Given the description of an element on the screen output the (x, y) to click on. 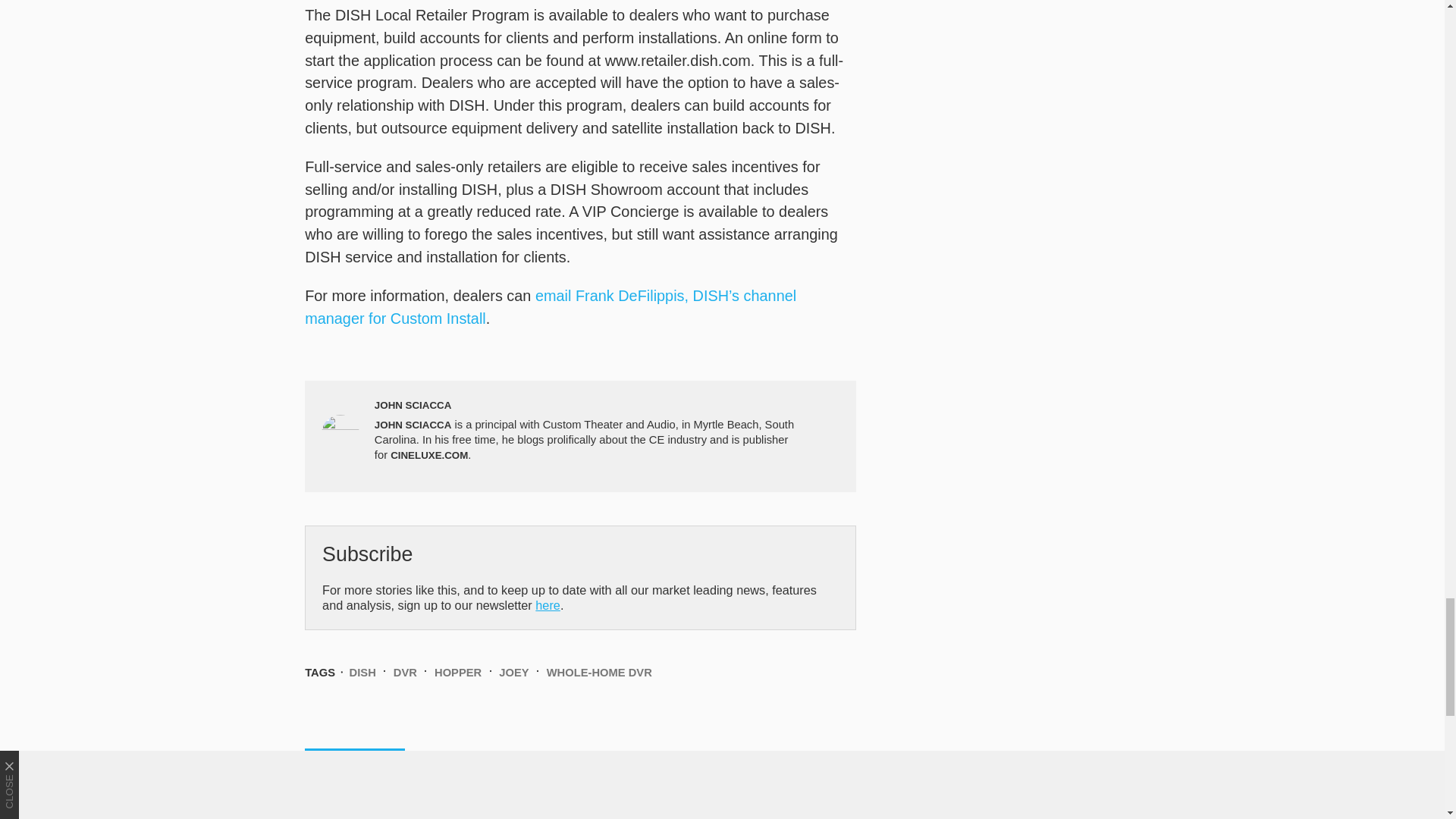
John Sciacca's Author Profile (412, 405)
